Given the description of an element on the screen output the (x, y) to click on. 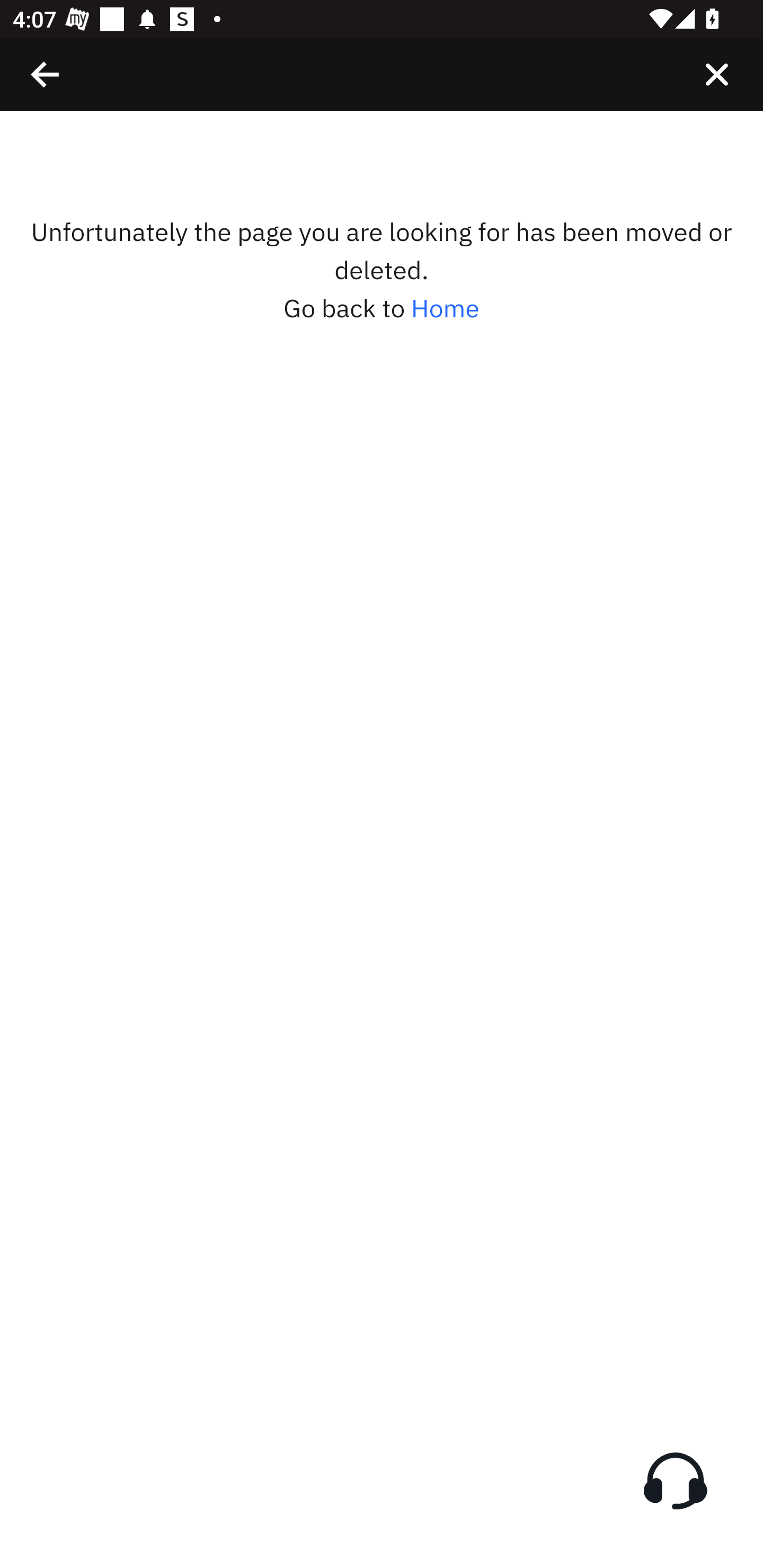
 (46, 74)
 (716, 74)
Home (444, 308)
Nova Your Virtual Assistant! button (674, 1480)
